Given the description of an element on the screen output the (x, y) to click on. 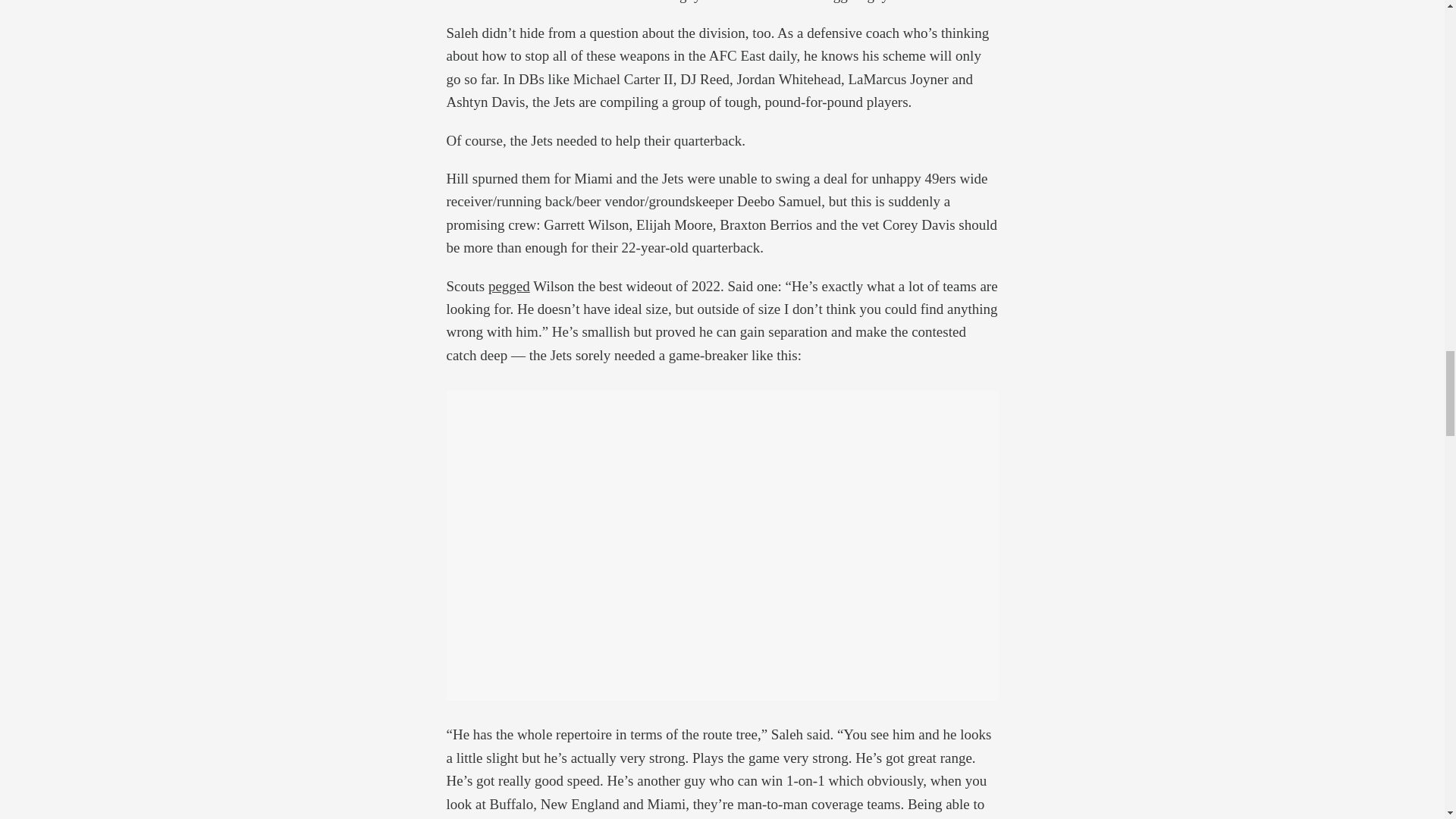
pegged (508, 286)
